Given the description of an element on the screen output the (x, y) to click on. 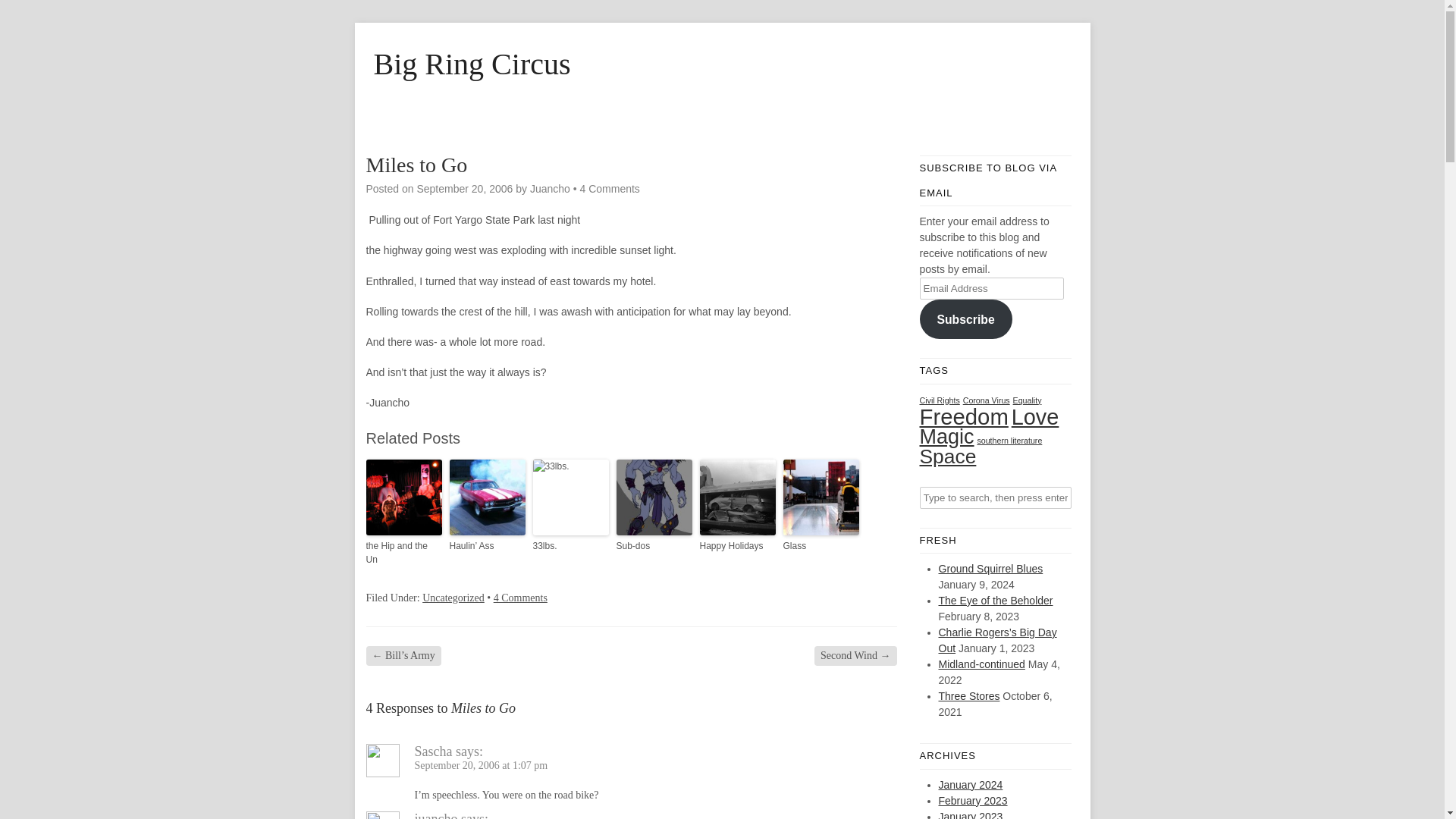
Freedom (962, 415)
Space (946, 455)
Magic (946, 436)
4 Comments (520, 596)
Sub-dos (653, 545)
Love (1035, 416)
Civil Rights (938, 399)
the Hip and the Un (403, 551)
juancho (435, 815)
33lbs. (570, 545)
Subscribe (964, 319)
Juancho (549, 188)
Search (23, 10)
Big Ring Circus (721, 64)
Happy Holidays (736, 545)
